Given the description of an element on the screen output the (x, y) to click on. 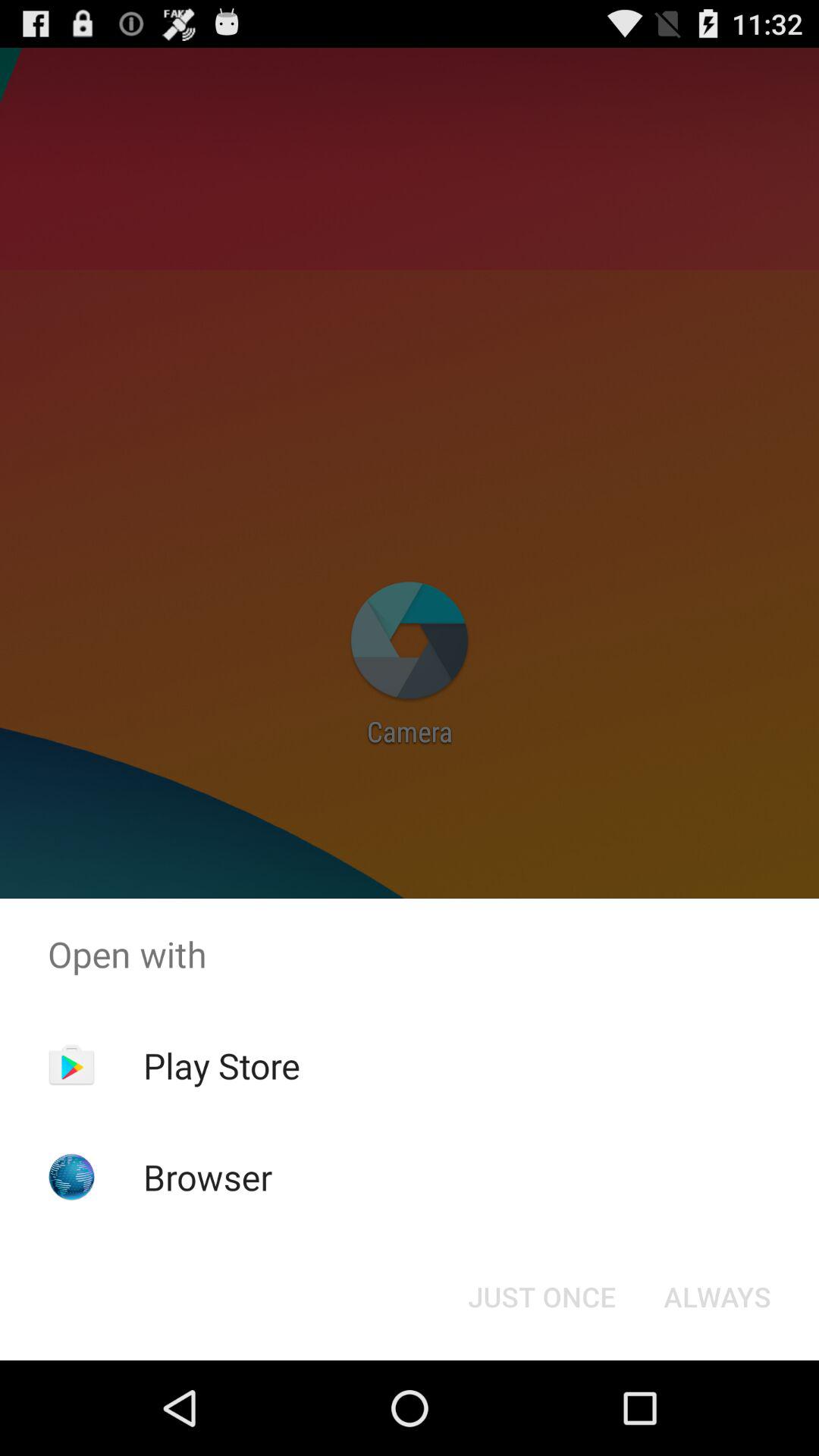
choose the play store app (221, 1065)
